Given the description of an element on the screen output the (x, y) to click on. 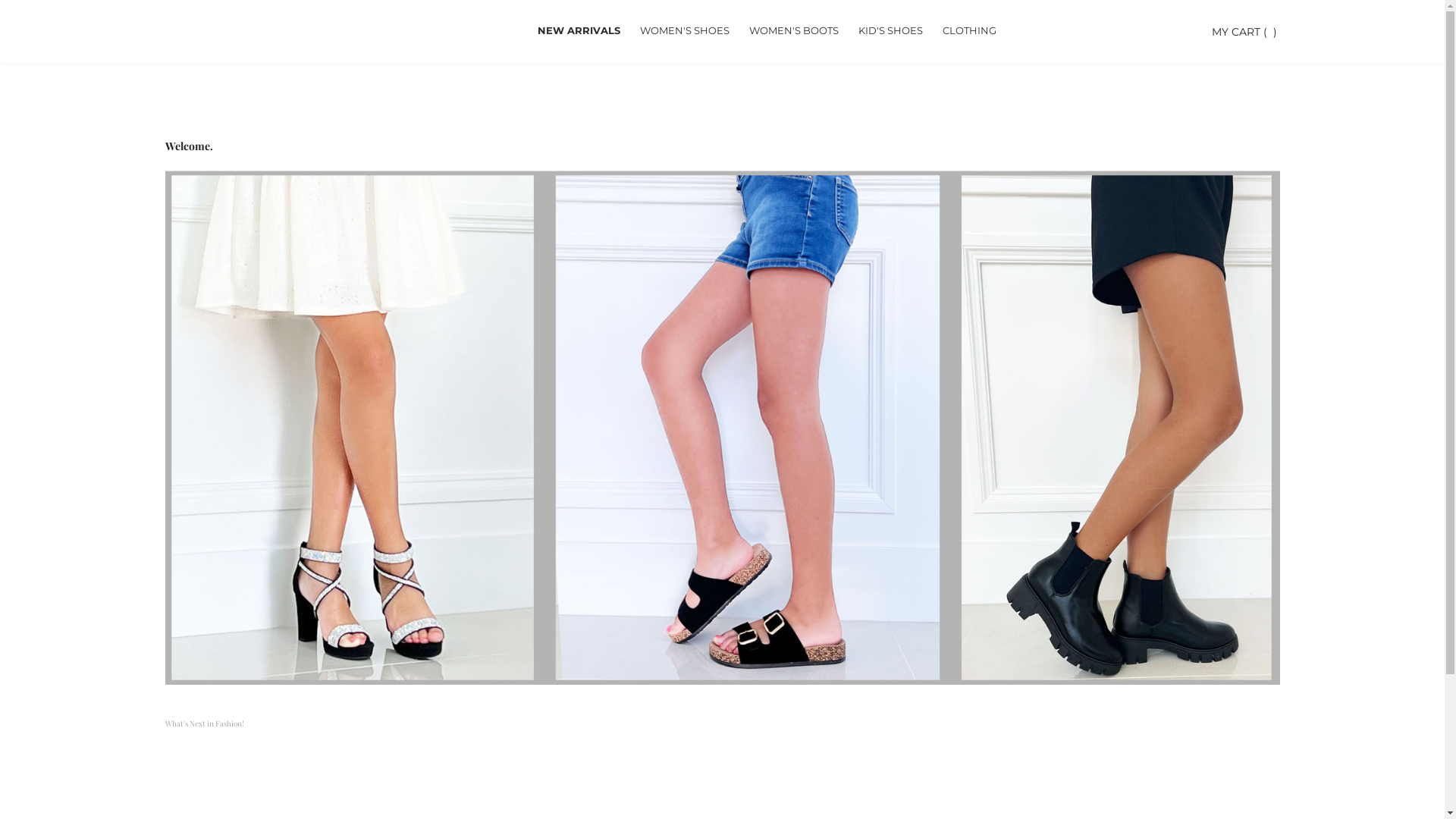
KID'S SHOES Element type: text (889, 31)
NEW ARRIVALS Element type: text (578, 31)
WOMEN'S BOOTS Element type: text (792, 31)
CLOTHING Element type: text (969, 31)
MY CART (   ) Element type: text (1244, 30)
WOMEN'S SHOES Element type: text (683, 31)
